Given the description of an element on the screen output the (x, y) to click on. 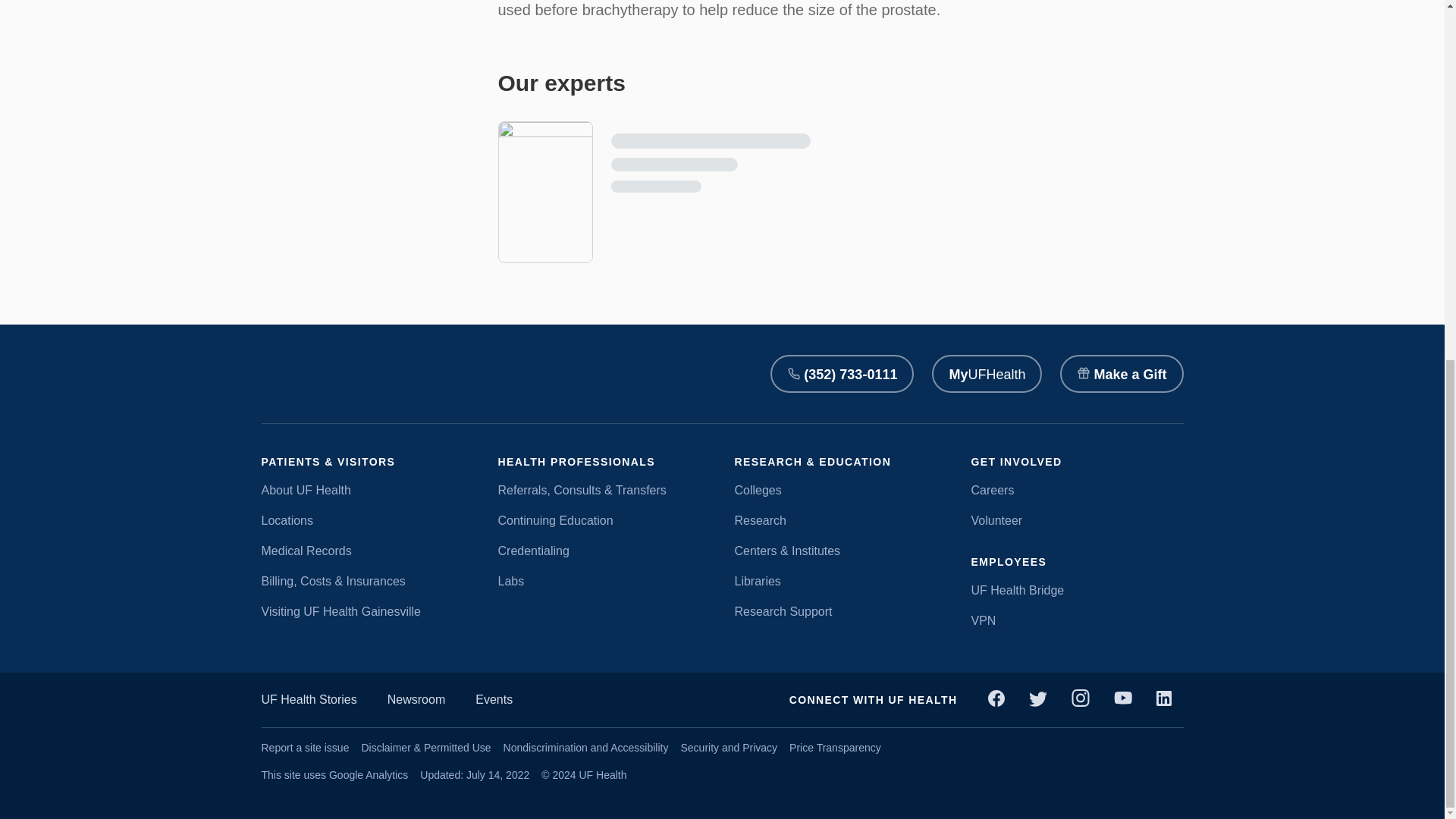
Labs (603, 581)
Research (839, 520)
Credentialing (603, 551)
University of Florida (452, 373)
University of Florida Health (310, 373)
Visiting UF Health Gainesville (366, 611)
Research Support (839, 611)
Careers (1076, 490)
Continuing Education (603, 520)
Make a Gift (1120, 372)
Colleges (839, 490)
Volunteer (1076, 520)
Libraries (839, 581)
Locations (366, 520)
About UF Health (366, 490)
